Given the description of an element on the screen output the (x, y) to click on. 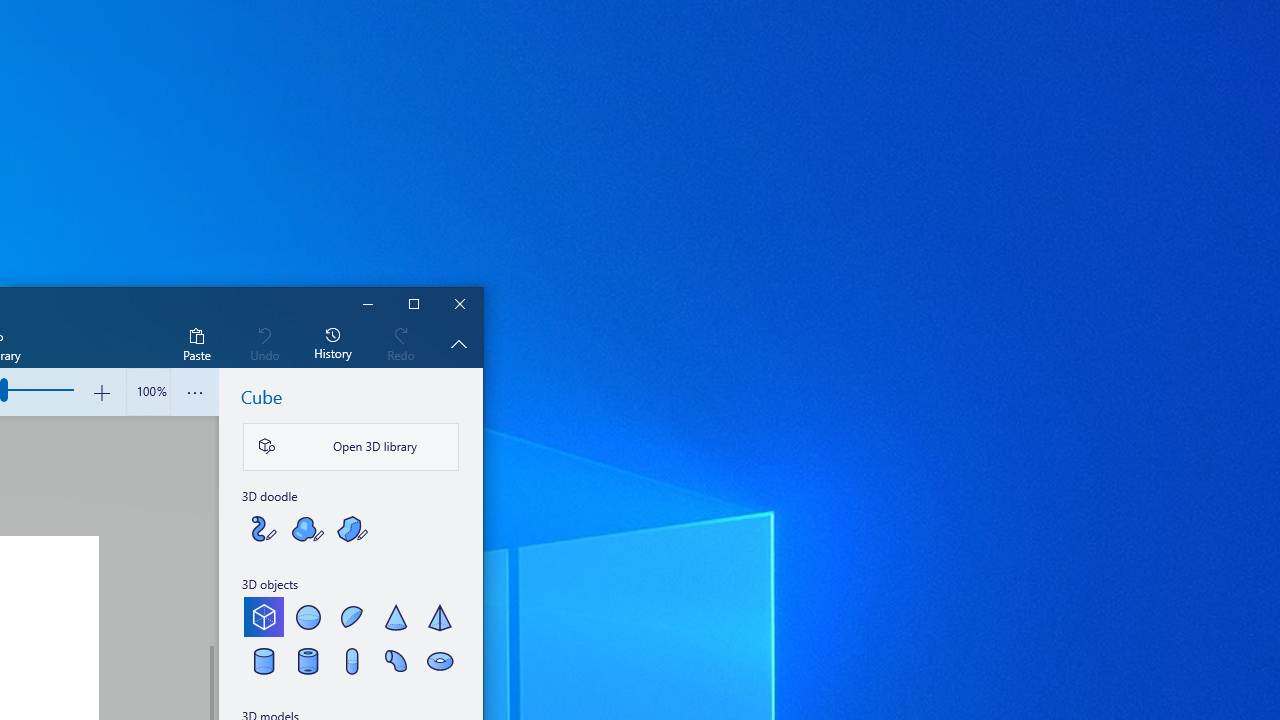
Curved cylinder (396, 660)
Cone (396, 616)
Redo (401, 343)
Undo (264, 343)
Cube (264, 616)
Vertical Large Decrease (210, 530)
Tube (307, 660)
Capsule (351, 660)
Sphere (307, 616)
Soft edge (307, 528)
History (333, 343)
